Given the description of an element on the screen output the (x, y) to click on. 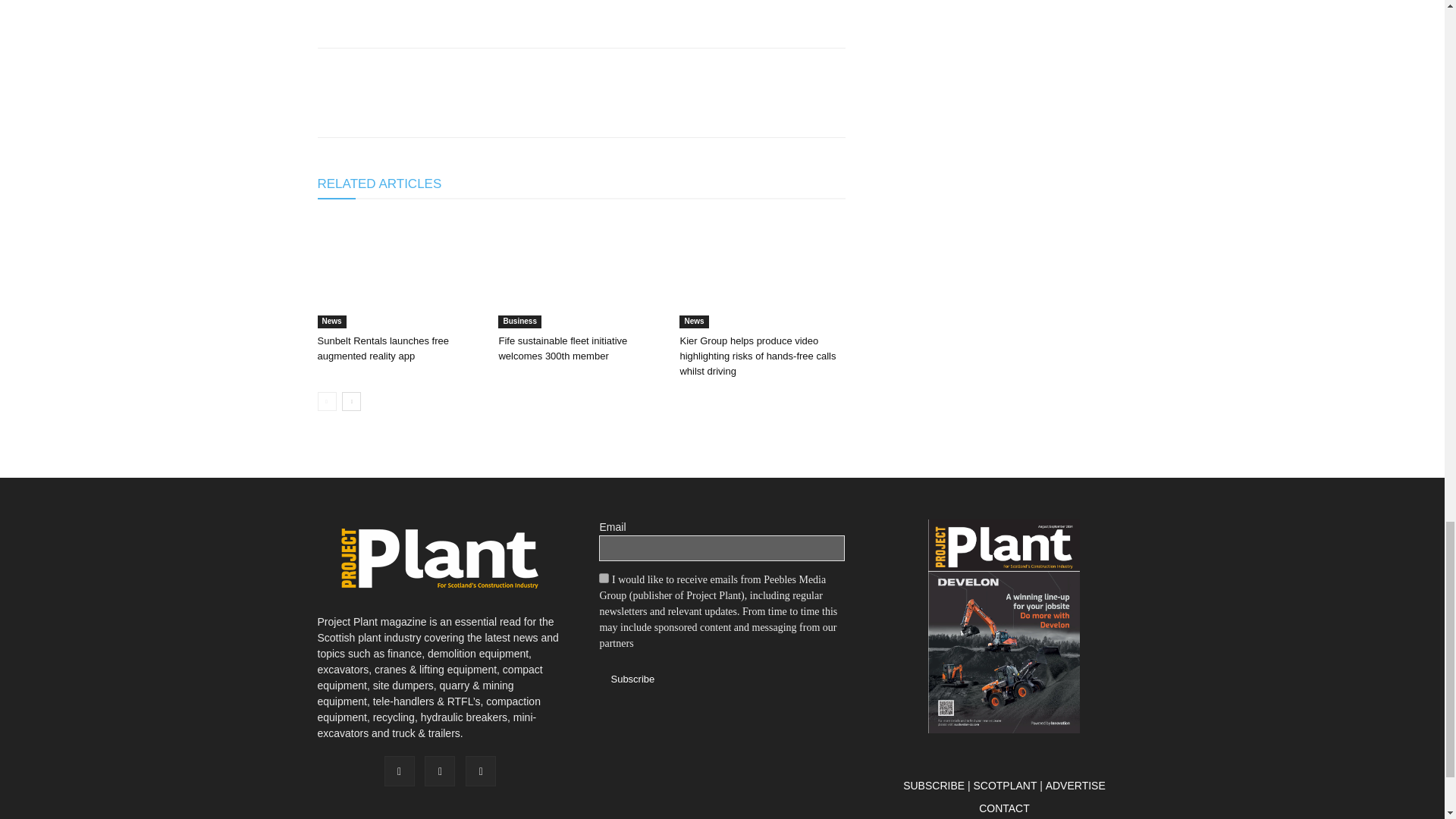
on (603, 578)
bottomFacebookLike (430, 72)
Subscribe (631, 679)
